Given the description of an element on the screen output the (x, y) to click on. 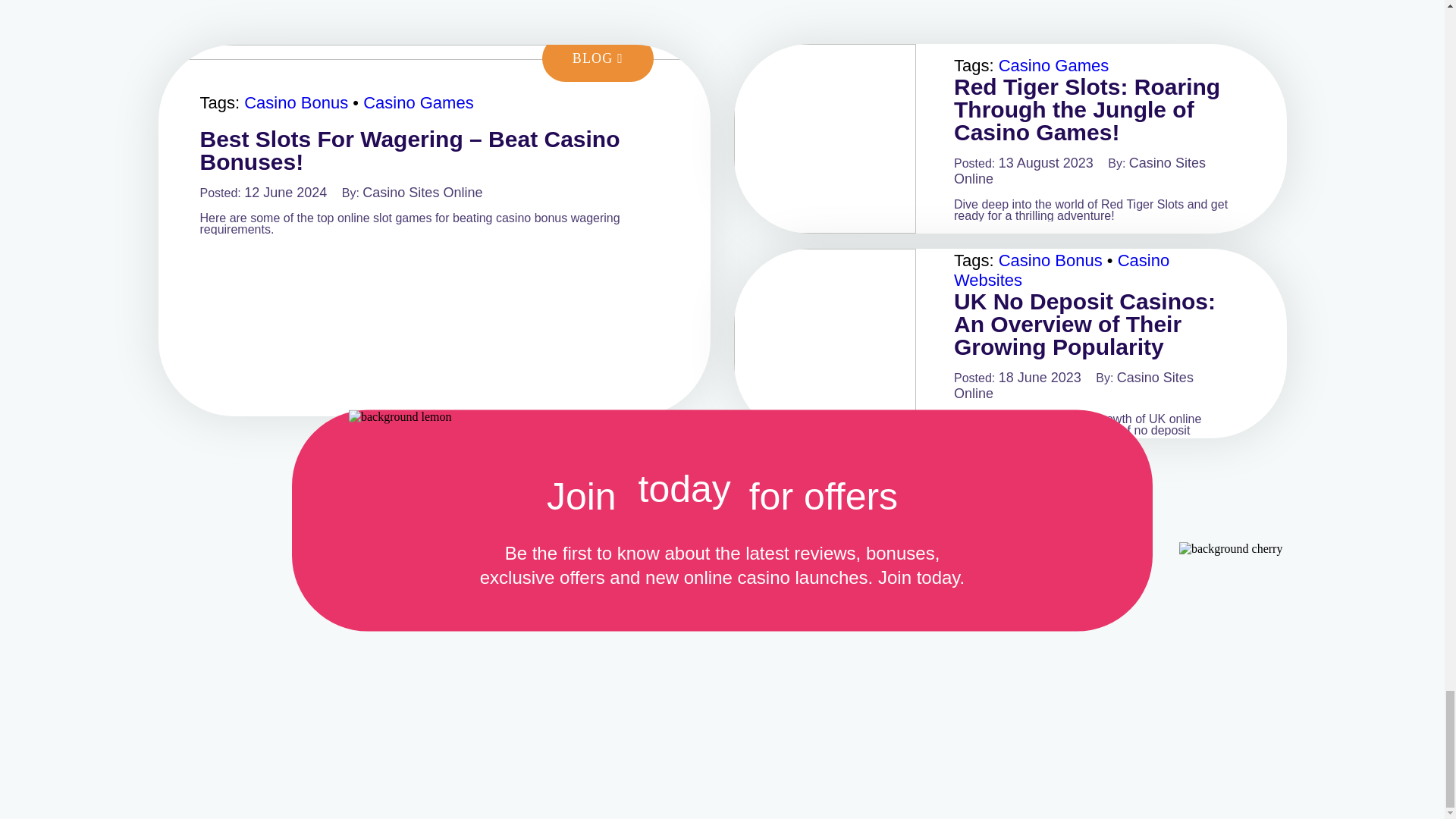
Casino Bonus (295, 102)
Casino Games (418, 102)
BLOG (597, 58)
